Given the description of an element on the screen output the (x, y) to click on. 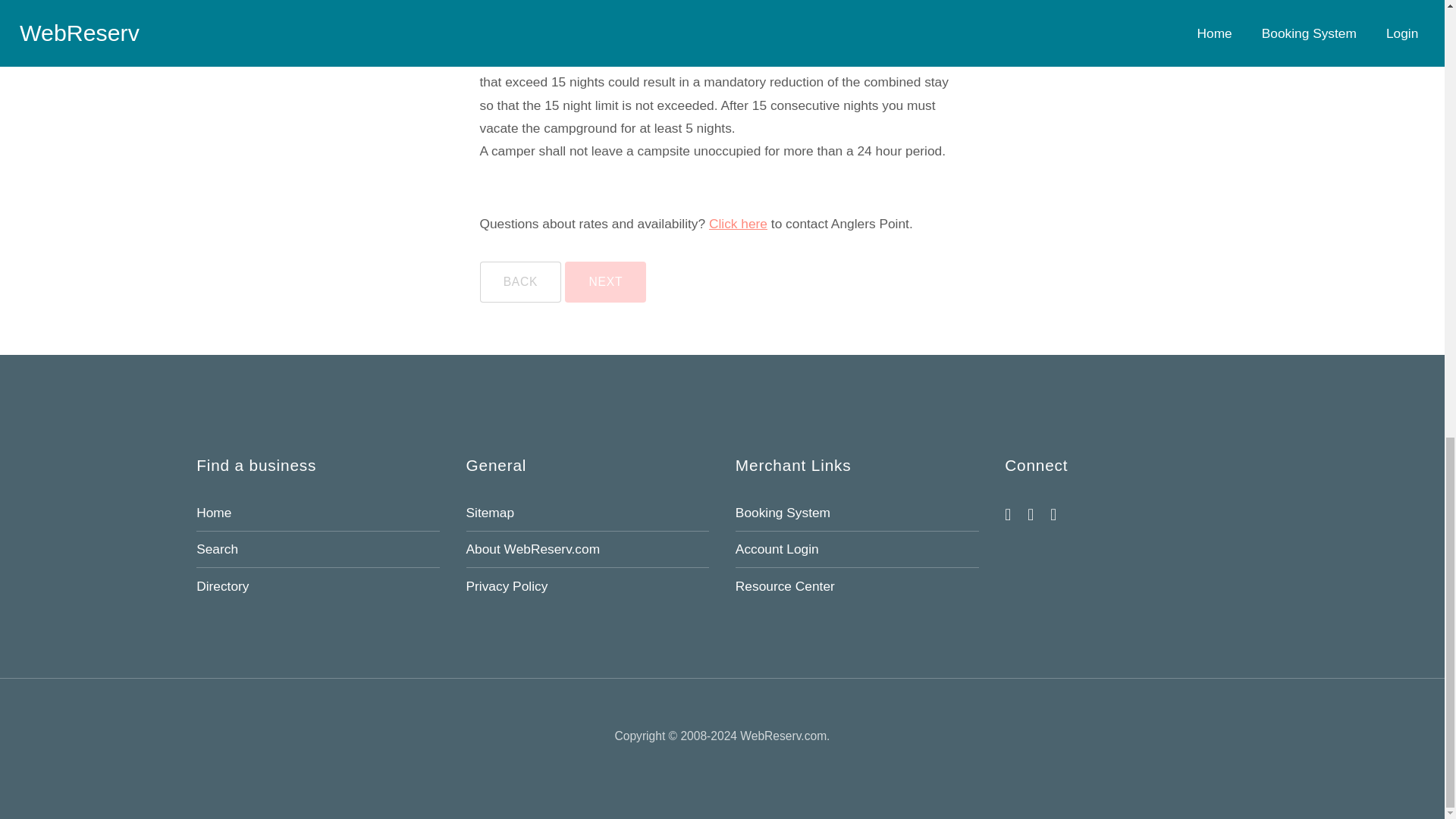
Privacy Policy (506, 585)
Home (213, 512)
Next (605, 282)
Resource Center (784, 585)
Search (217, 548)
Booking System (782, 512)
Account Login (776, 548)
About WebReserv.com (532, 548)
Sitemap (489, 512)
Directory (222, 585)
Click here (738, 223)
Back (519, 282)
Next (605, 282)
